Given the description of an element on the screen output the (x, y) to click on. 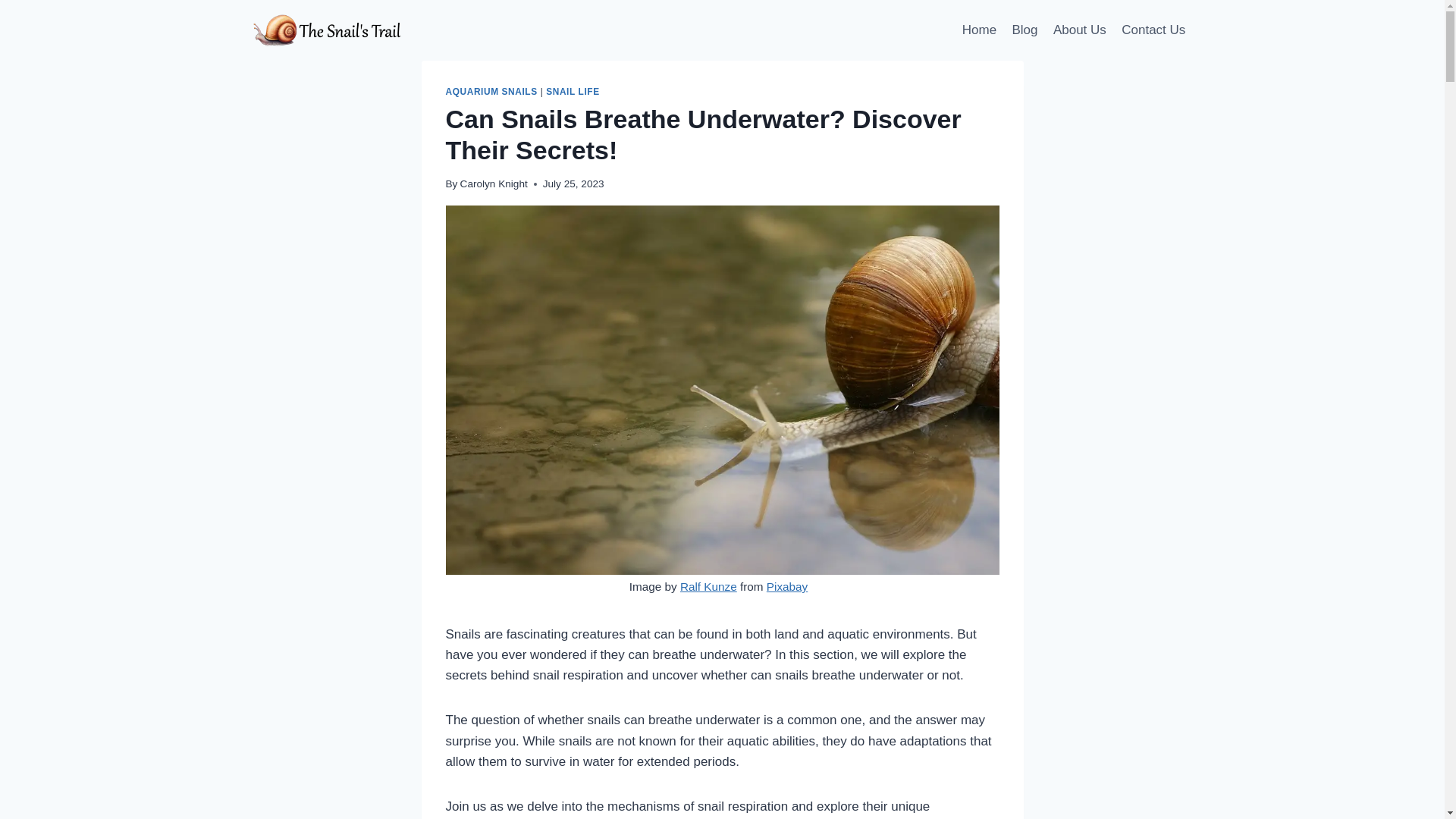
Ralf Kunze (707, 585)
Blog (1024, 30)
Home (979, 30)
AQUARIUM SNAILS (491, 91)
About Us (1079, 30)
Contact Us (1152, 30)
Pixabay (787, 585)
SNAIL LIFE (572, 91)
Carolyn Knight (493, 183)
